Given the description of an element on the screen output the (x, y) to click on. 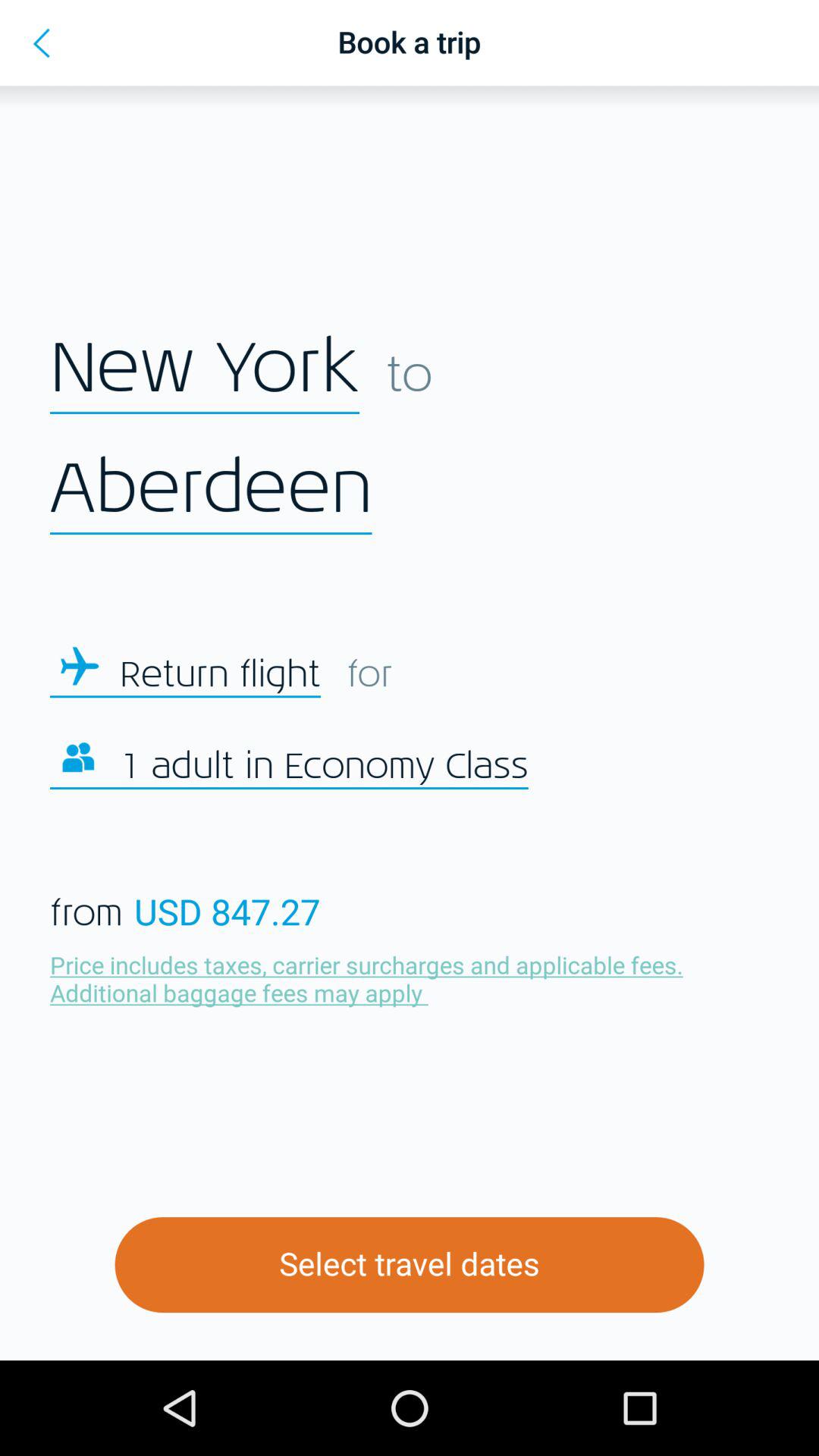
turn on item above from icon (324, 766)
